Given the description of an element on the screen output the (x, y) to click on. 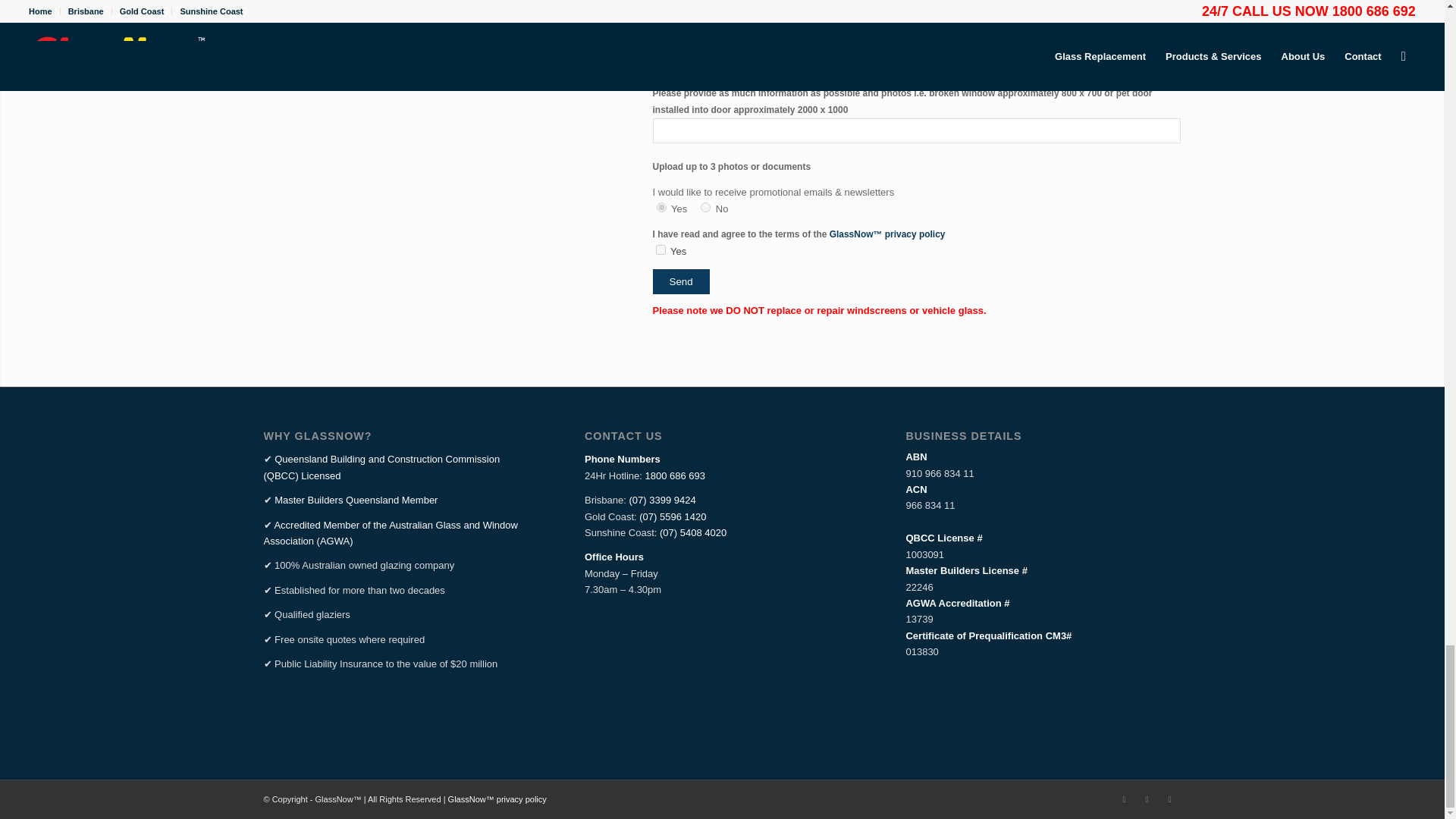
Yes (660, 249)
Yes (661, 207)
Facebook (1124, 798)
Send (681, 281)
Linkedin (1146, 798)
No (705, 207)
